Given the description of an element on the screen output the (x, y) to click on. 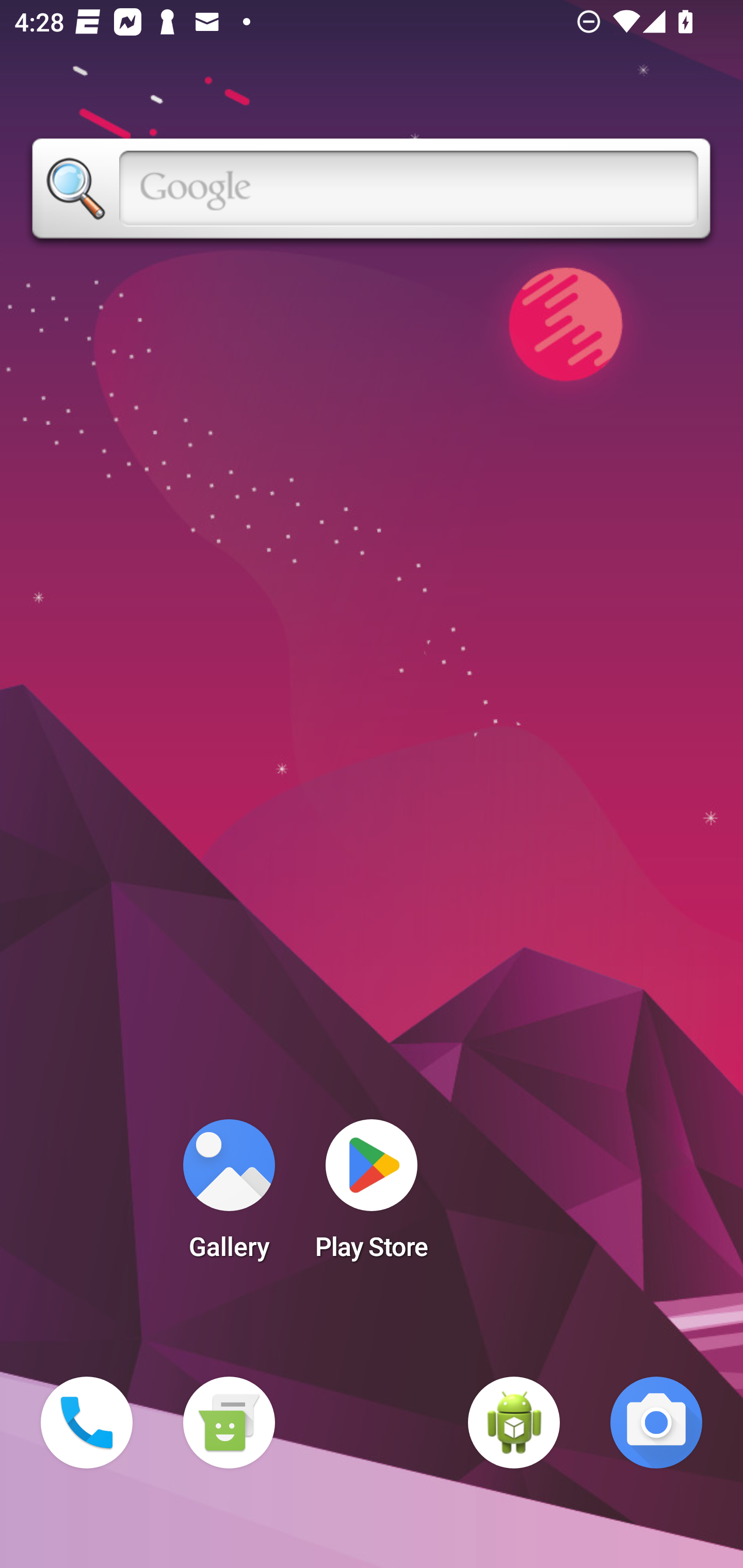
Gallery (228, 1195)
Play Store (371, 1195)
Phone (86, 1422)
Messaging (228, 1422)
WebView Browser Tester (513, 1422)
Camera (656, 1422)
